Given the description of an element on the screen output the (x, y) to click on. 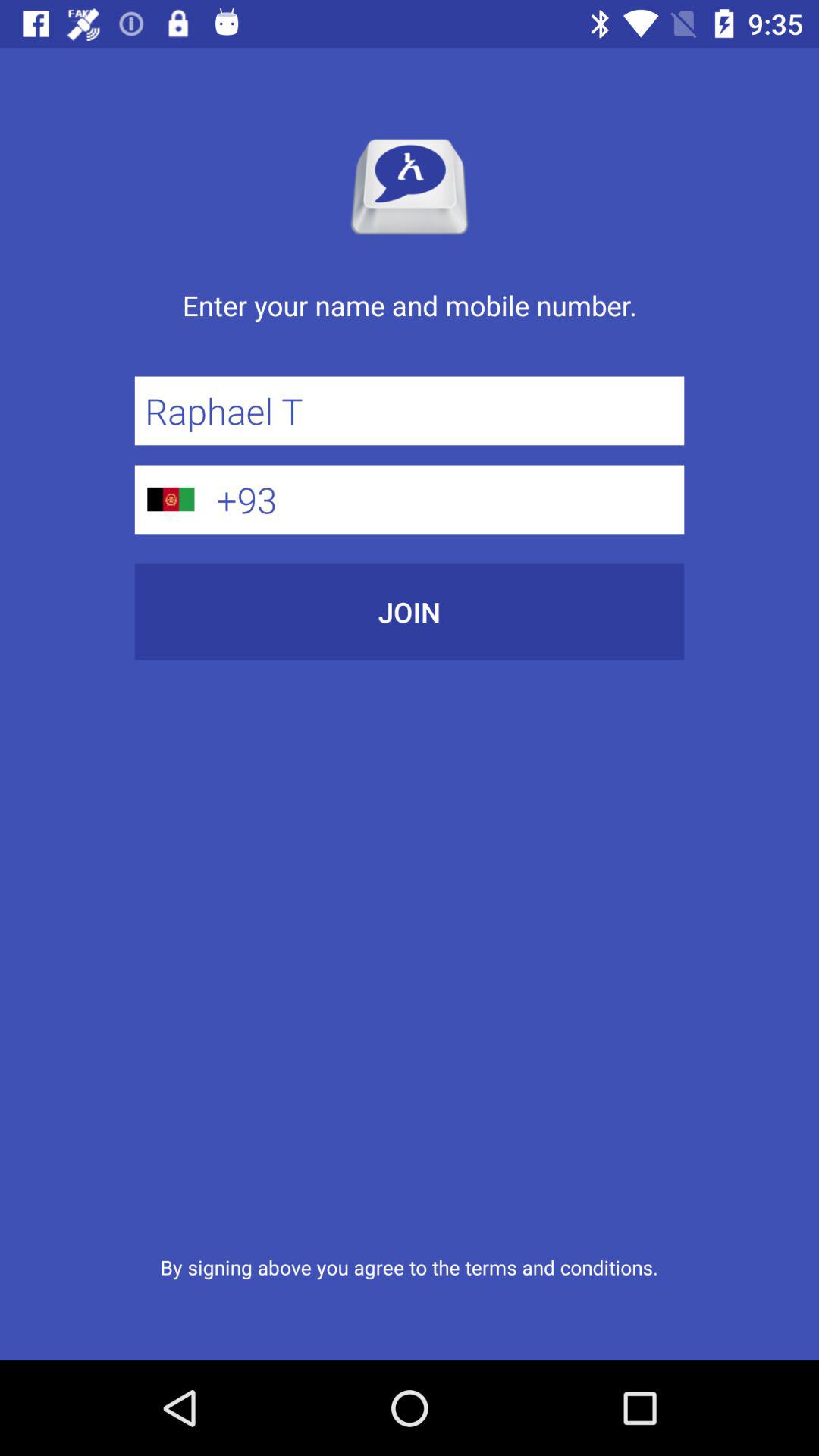
tap the icon above raphael t (409, 321)
